Given the description of an element on the screen output the (x, y) to click on. 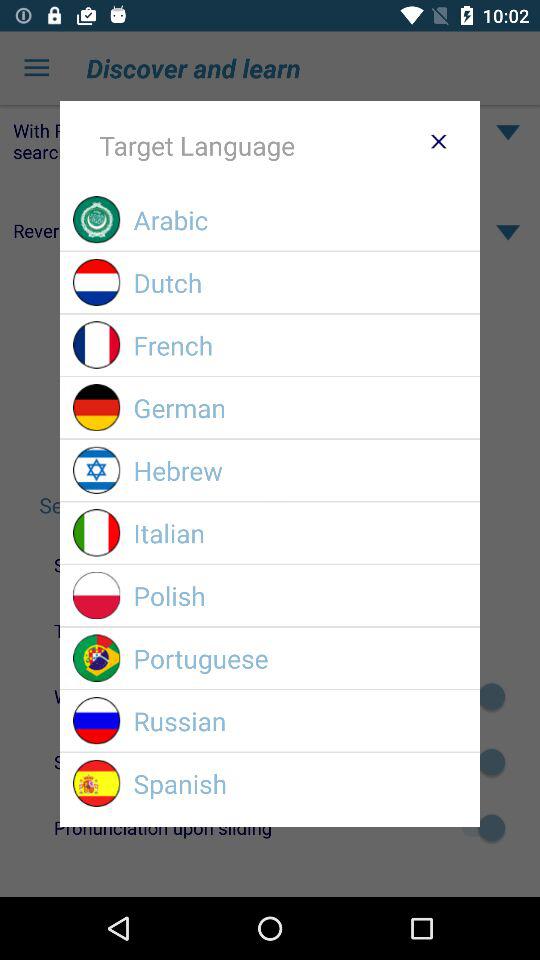
open the russian (300, 720)
